Given the description of an element on the screen output the (x, y) to click on. 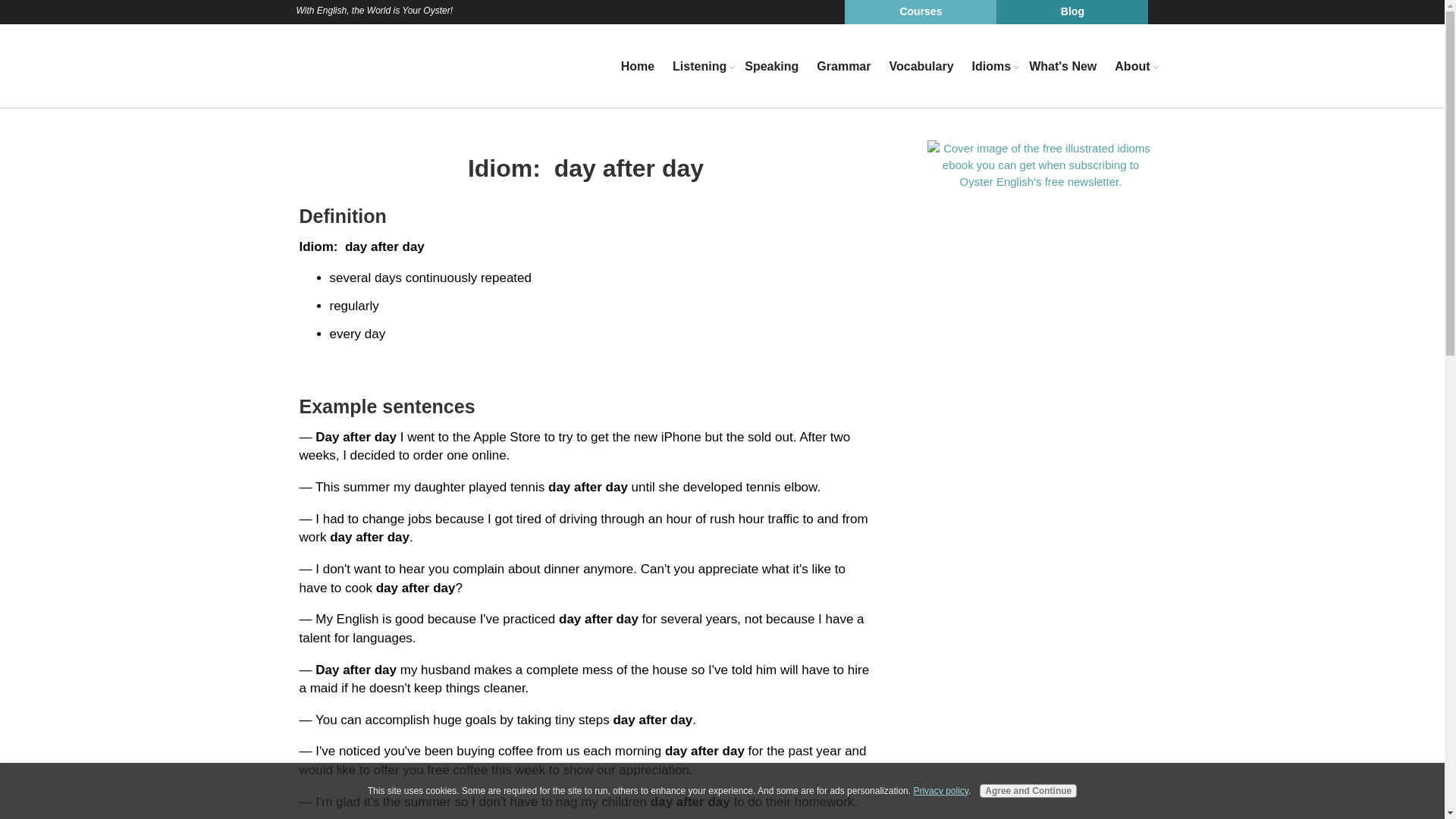
Grammar (843, 66)
Home (637, 66)
Courses (919, 12)
Privacy policy (940, 790)
Subscribe to our newsletter (1040, 164)
Blog (1071, 12)
Go to Signup and receive a free idioms ebook (1040, 180)
Vocabulary (920, 66)
Agree and Continue (1028, 790)
What's New (1062, 66)
